Given the description of an element on the screen output the (x, y) to click on. 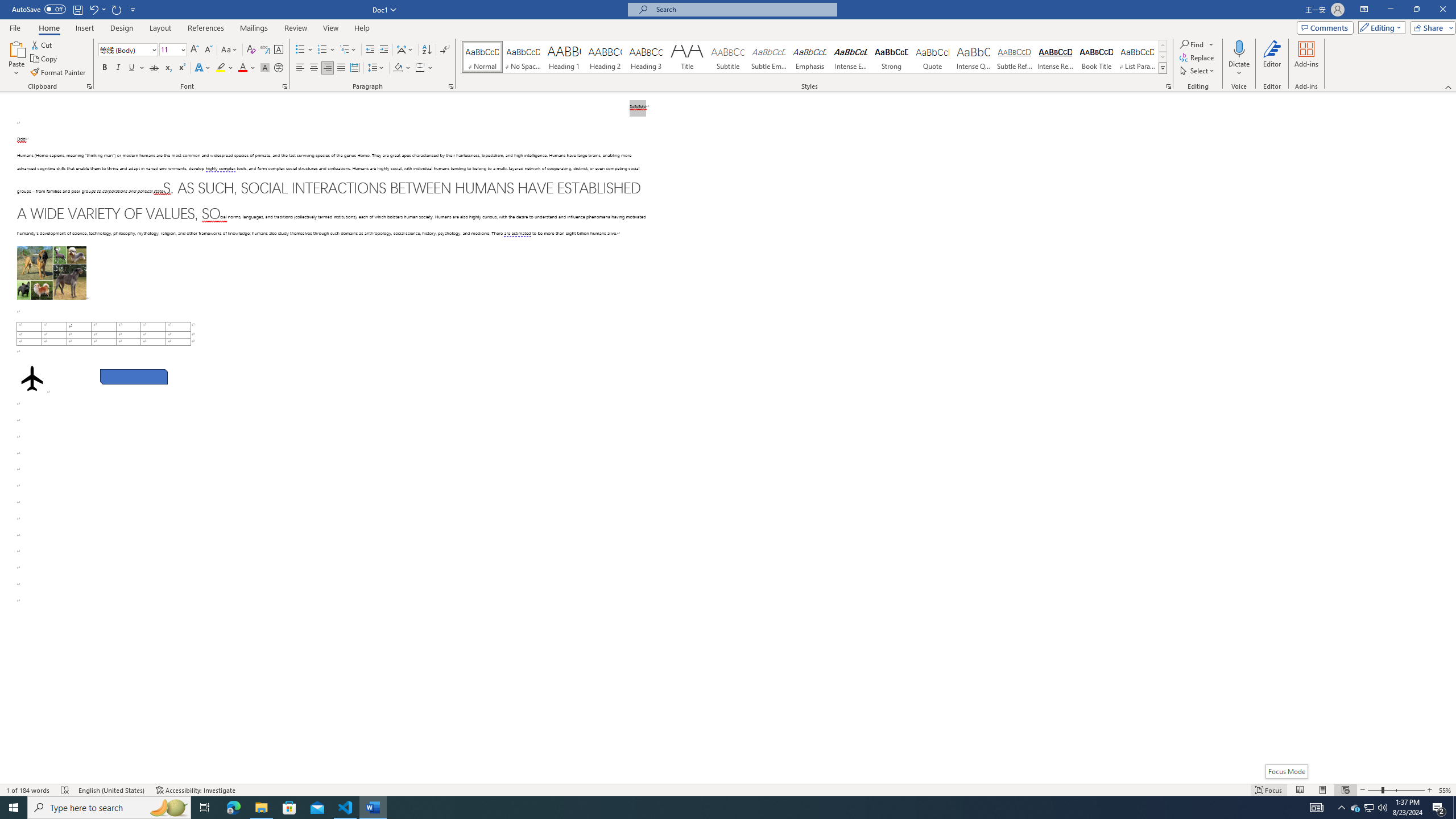
Zoom 55% (1445, 790)
Rectangle: Diagonal Corners Snipped 2 (133, 376)
Undo Paragraph Alignment (96, 9)
